Given the description of an element on the screen output the (x, y) to click on. 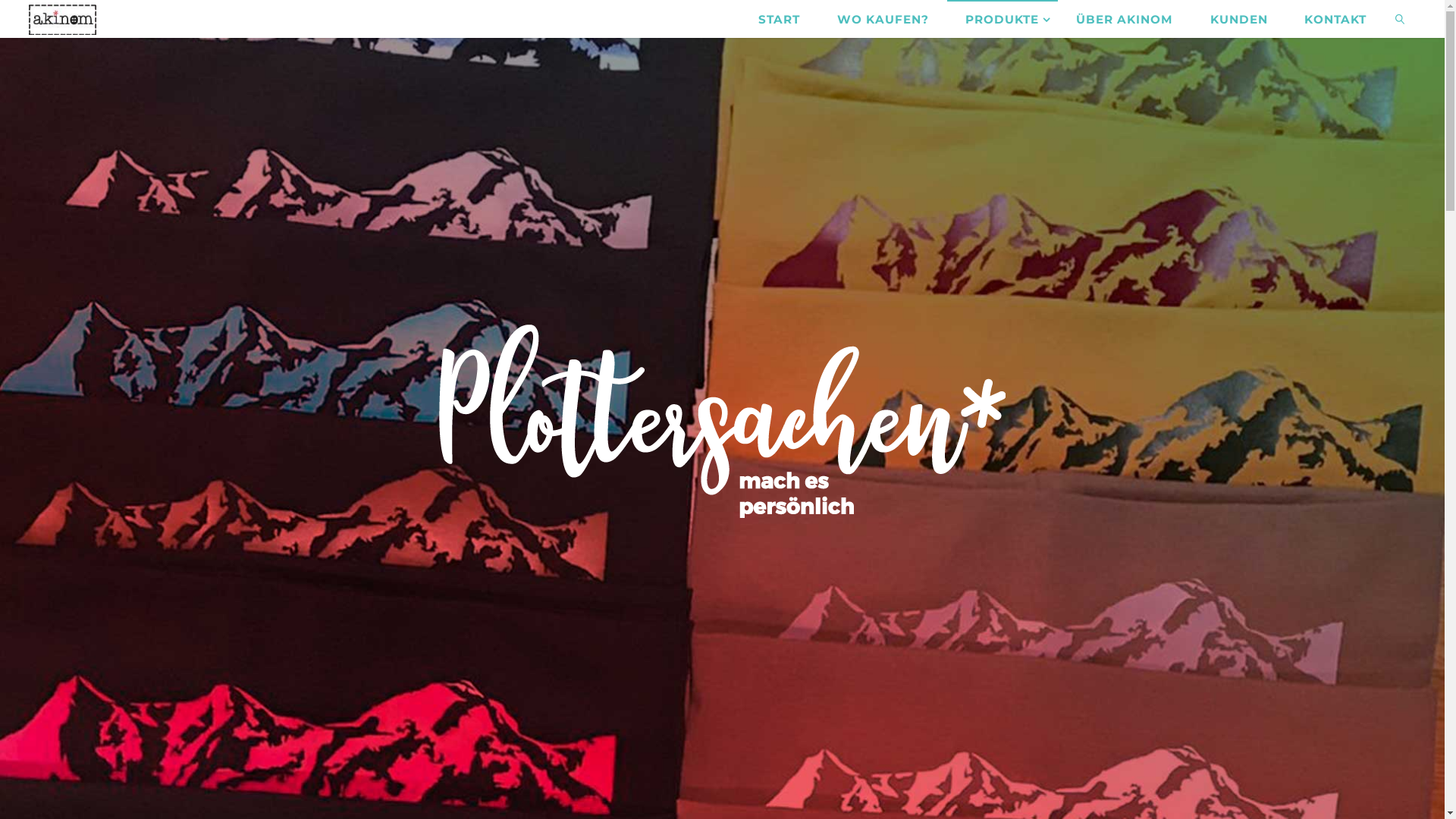
START Element type: text (779, 18)
PRODUKTE Element type: text (1002, 18)
akinomshop Element type: hover (61, 18)
WO KAUFEN? Element type: text (882, 18)
KONTAKT Element type: text (1335, 18)
KUNDEN Element type: text (1238, 18)
